Given the description of an element on the screen output the (x, y) to click on. 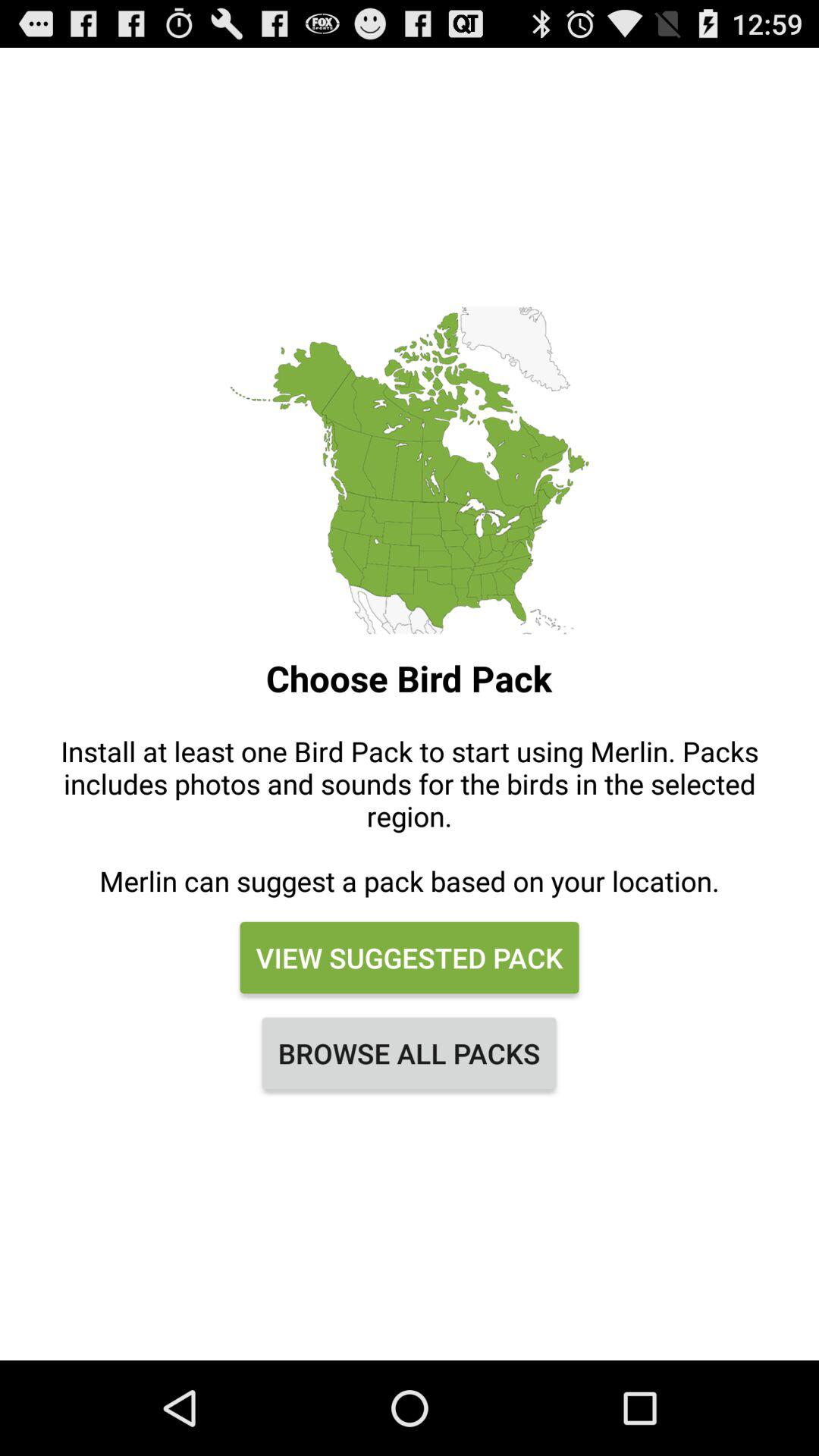
turn off icon below the install at least item (409, 957)
